Given the description of an element on the screen output the (x, y) to click on. 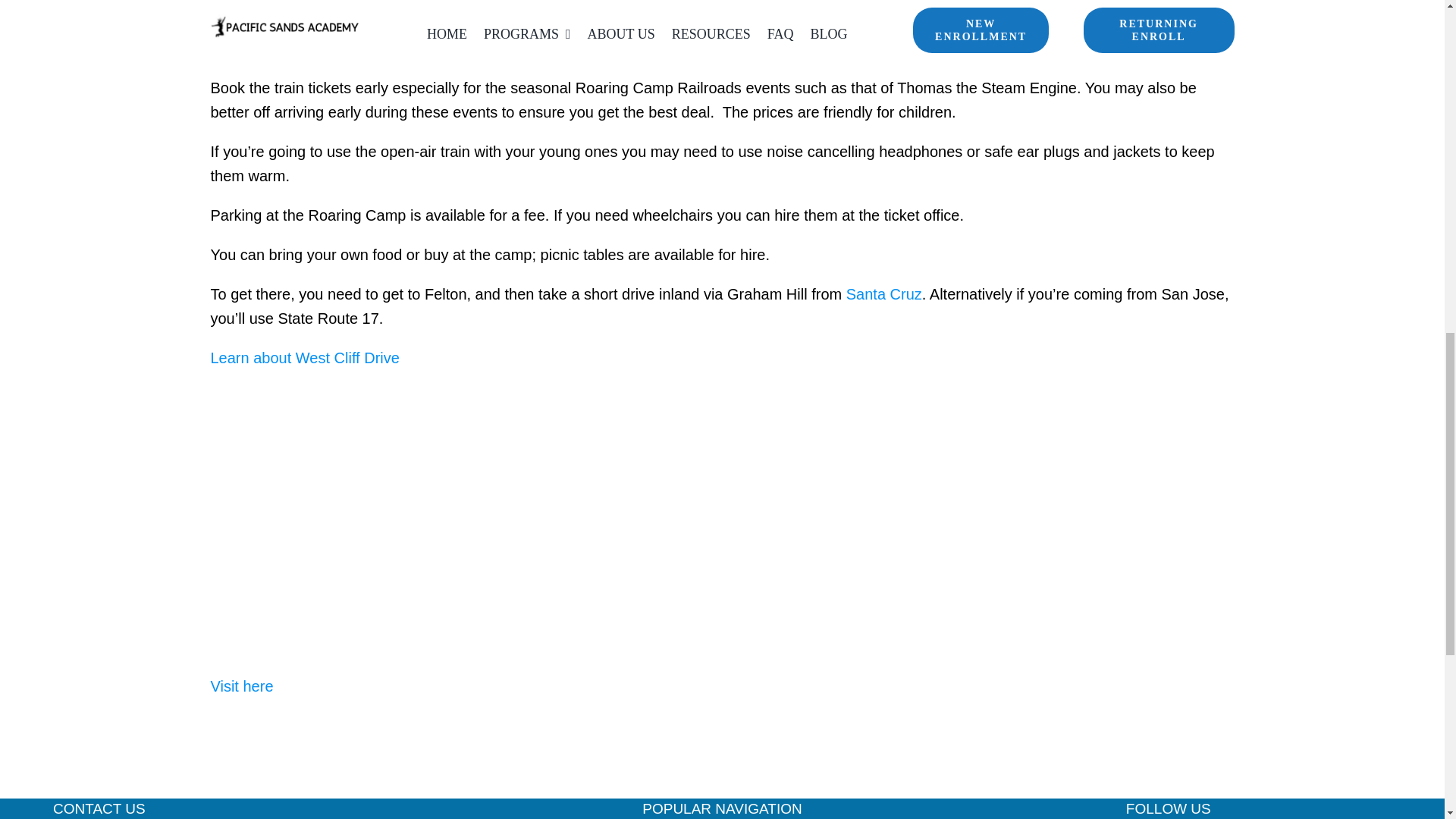
Santa Cruz (883, 293)
Visit here  (244, 686)
Learn about West Cliff Drive (304, 357)
